Given the description of an element on the screen output the (x, y) to click on. 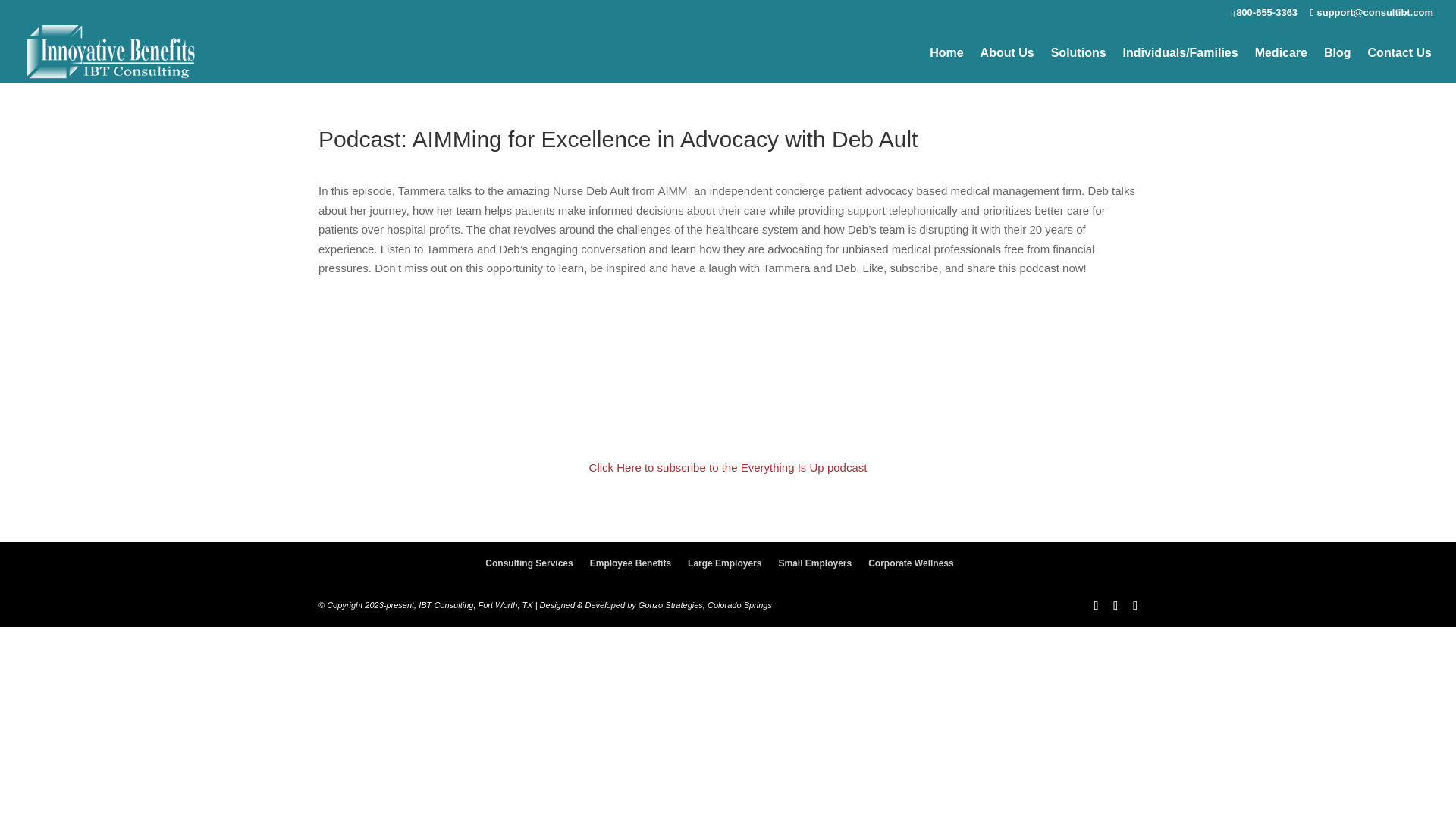
Medicare (1281, 65)
Click Here to subscribe to the Everything Is Up podcast (728, 467)
Employee Benefits (630, 562)
Home (946, 65)
Consulting Services (528, 562)
Gonzo Strategies, Colorado Springs (705, 604)
Solutions (1078, 65)
Corporate Wellness (910, 562)
About Us (1006, 65)
Large Employers (724, 562)
Small Employers (814, 562)
Contact Us (1399, 65)
